Given the description of an element on the screen output the (x, y) to click on. 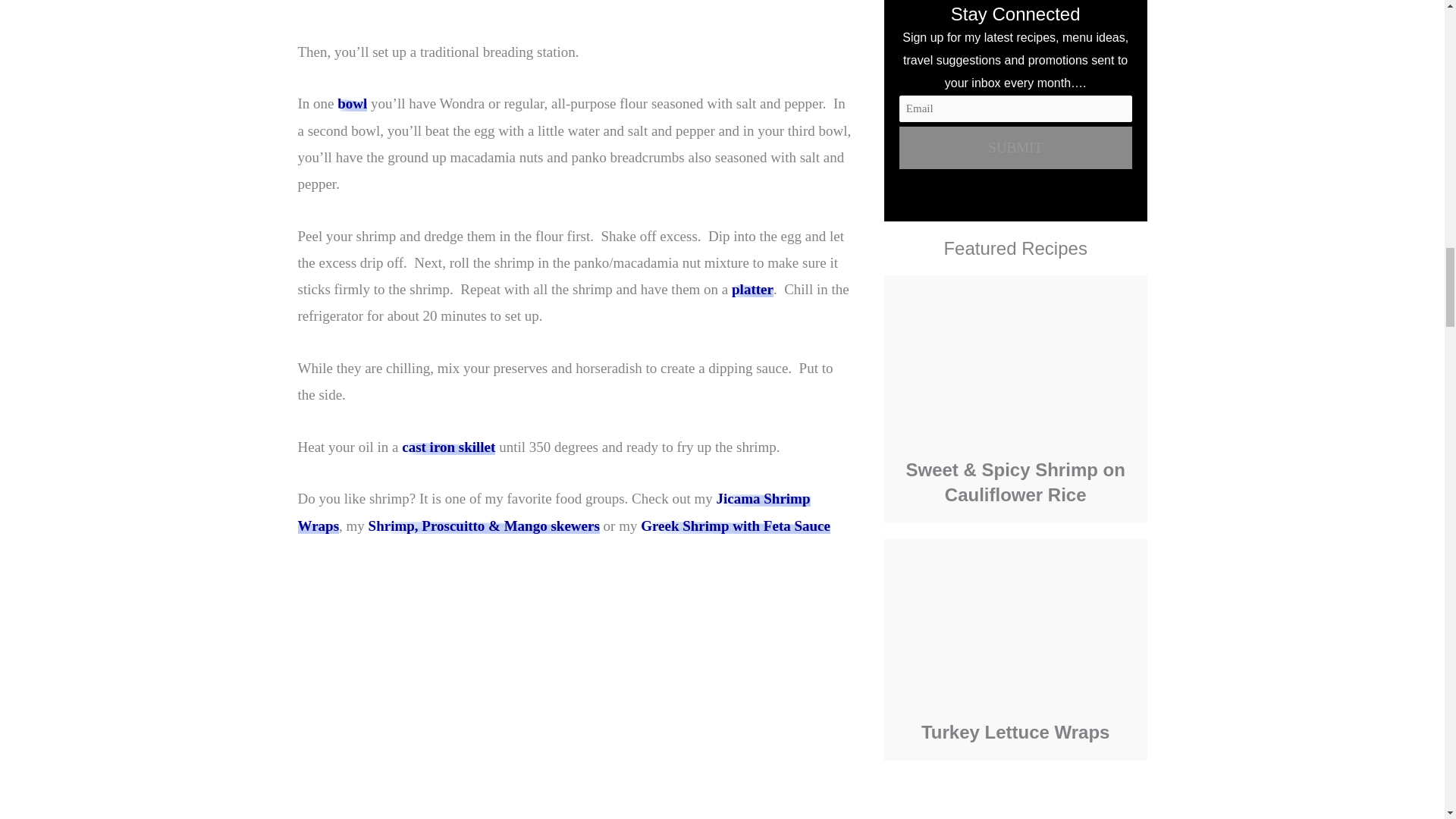
My Curated Tastes (483, 525)
Submit (1015, 147)
My Curated Tastes (734, 525)
My Curated Tastes (553, 511)
